Given the description of an element on the screen output the (x, y) to click on. 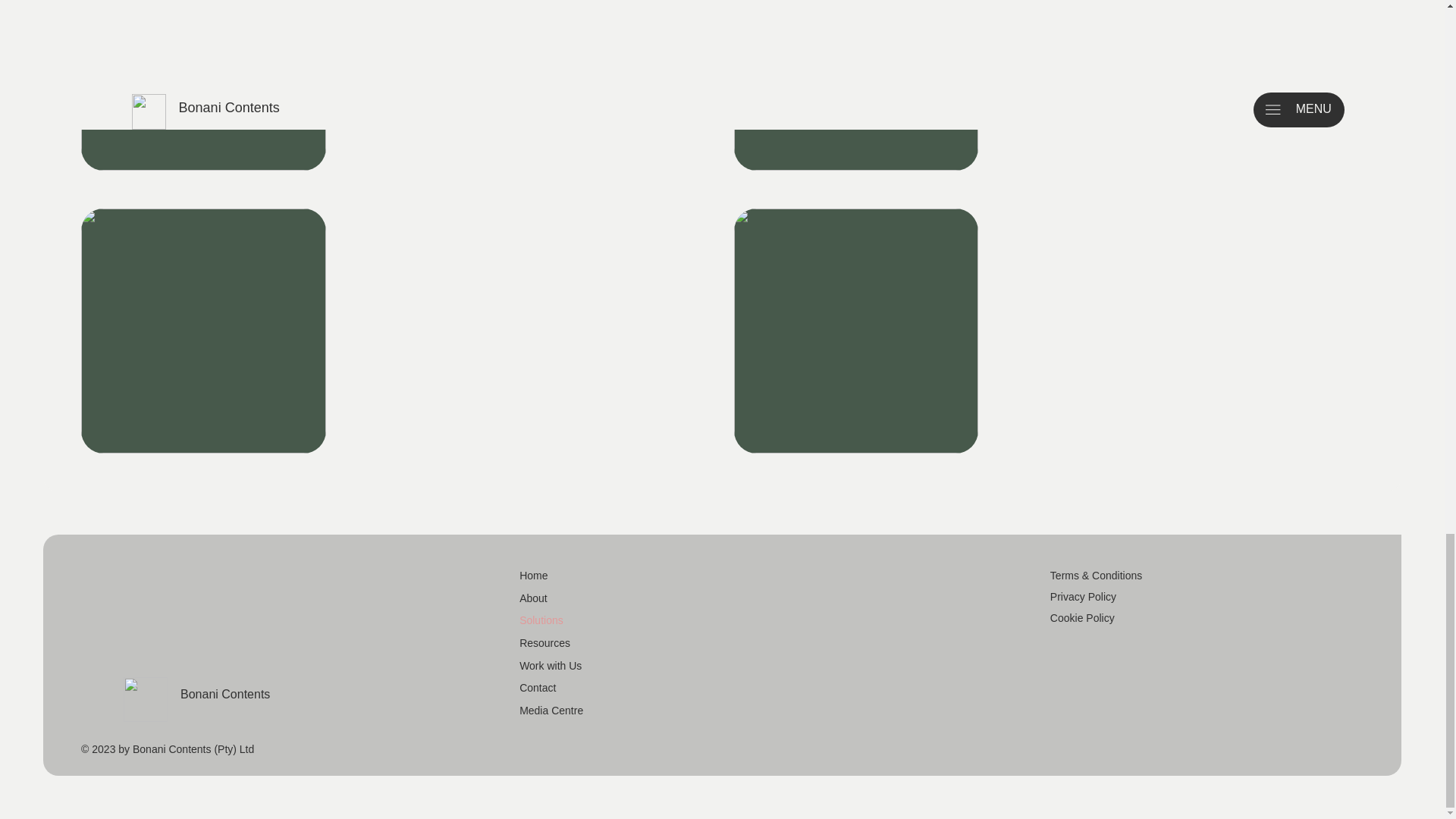
Media Centre (586, 711)
Privacy Policy (1082, 596)
Bonani Contents (224, 694)
About (586, 599)
Resources (586, 643)
Contact (586, 688)
Home (586, 576)
Work with Us (586, 666)
Solutions (586, 620)
